Given the description of an element on the screen output the (x, y) to click on. 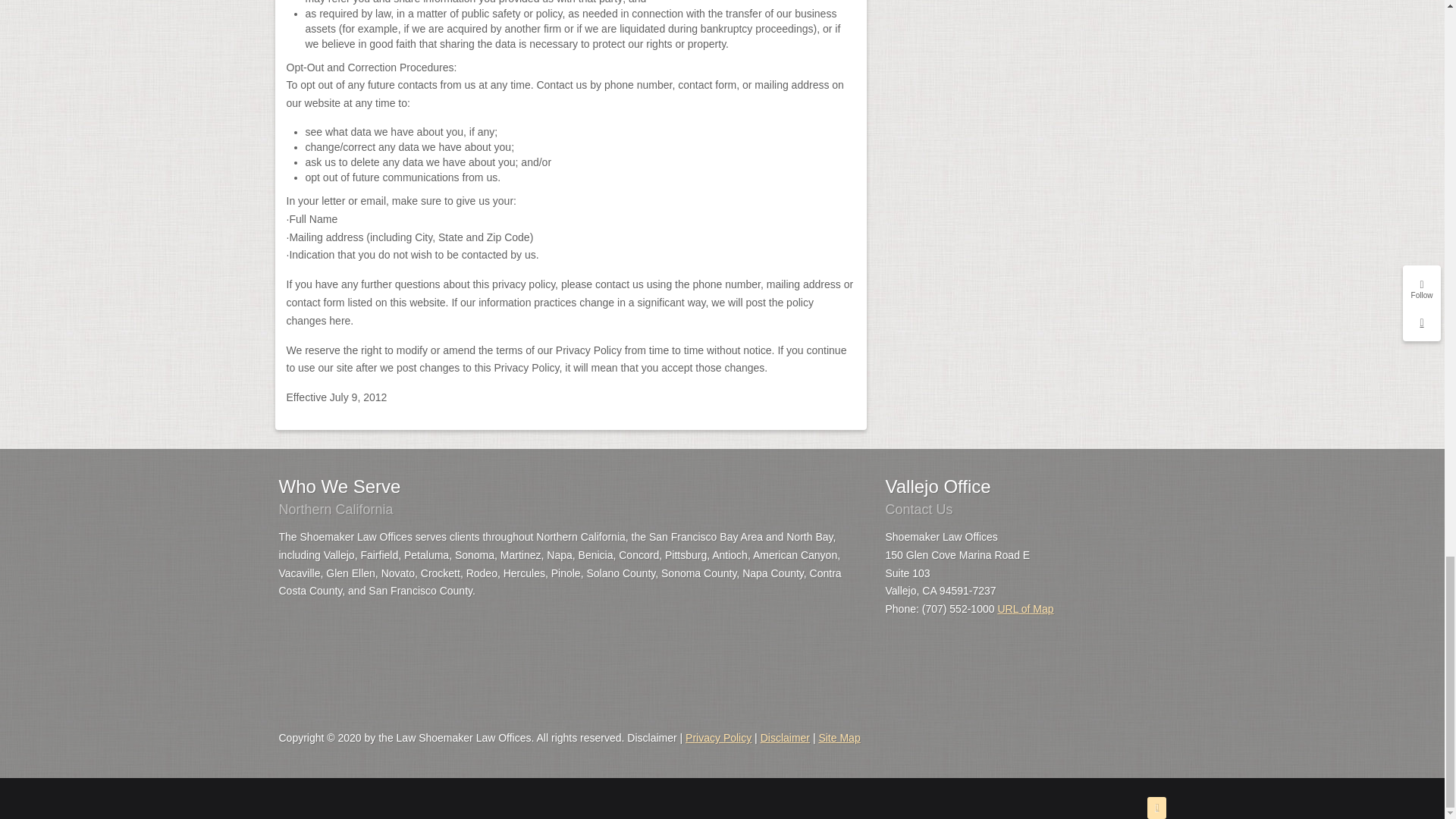
Site Map (839, 737)
Disclaimer (784, 737)
site map (839, 737)
Privacy Policy (718, 737)
